Given the description of an element on the screen output the (x, y) to click on. 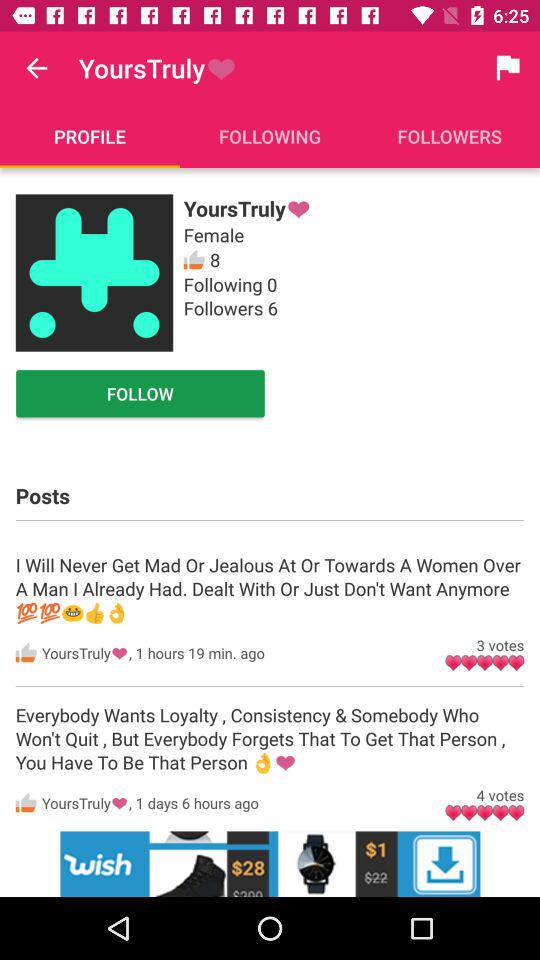
profile image area (94, 272)
